Given the description of an element on the screen output the (x, y) to click on. 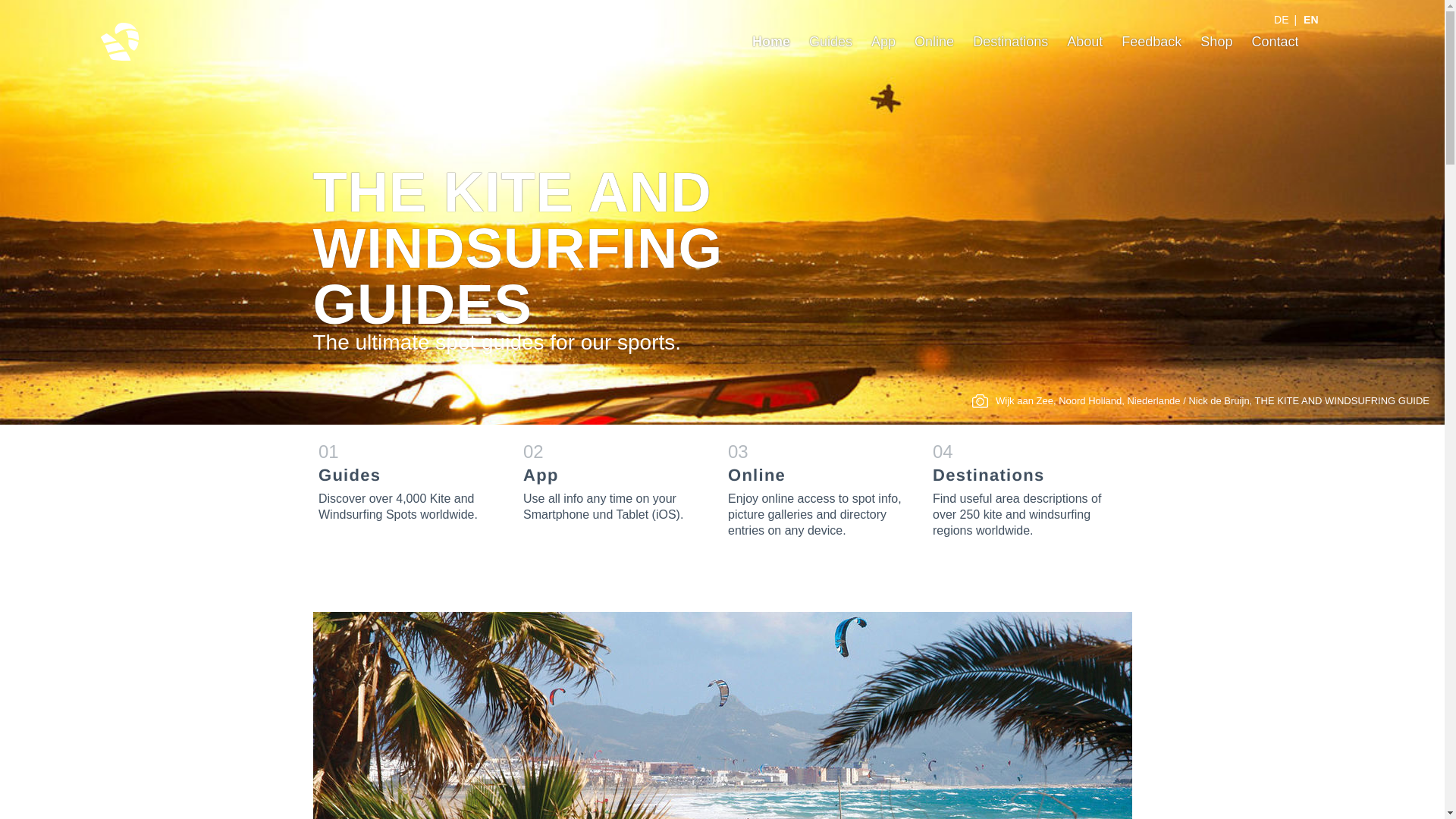
About (1084, 41)
Destinations (1023, 488)
App (882, 41)
App (612, 481)
Online (933, 41)
Feedback (1150, 41)
Contact (1274, 41)
Guides (830, 41)
Guides (830, 41)
Contact (1274, 41)
